Given the description of an element on the screen output the (x, y) to click on. 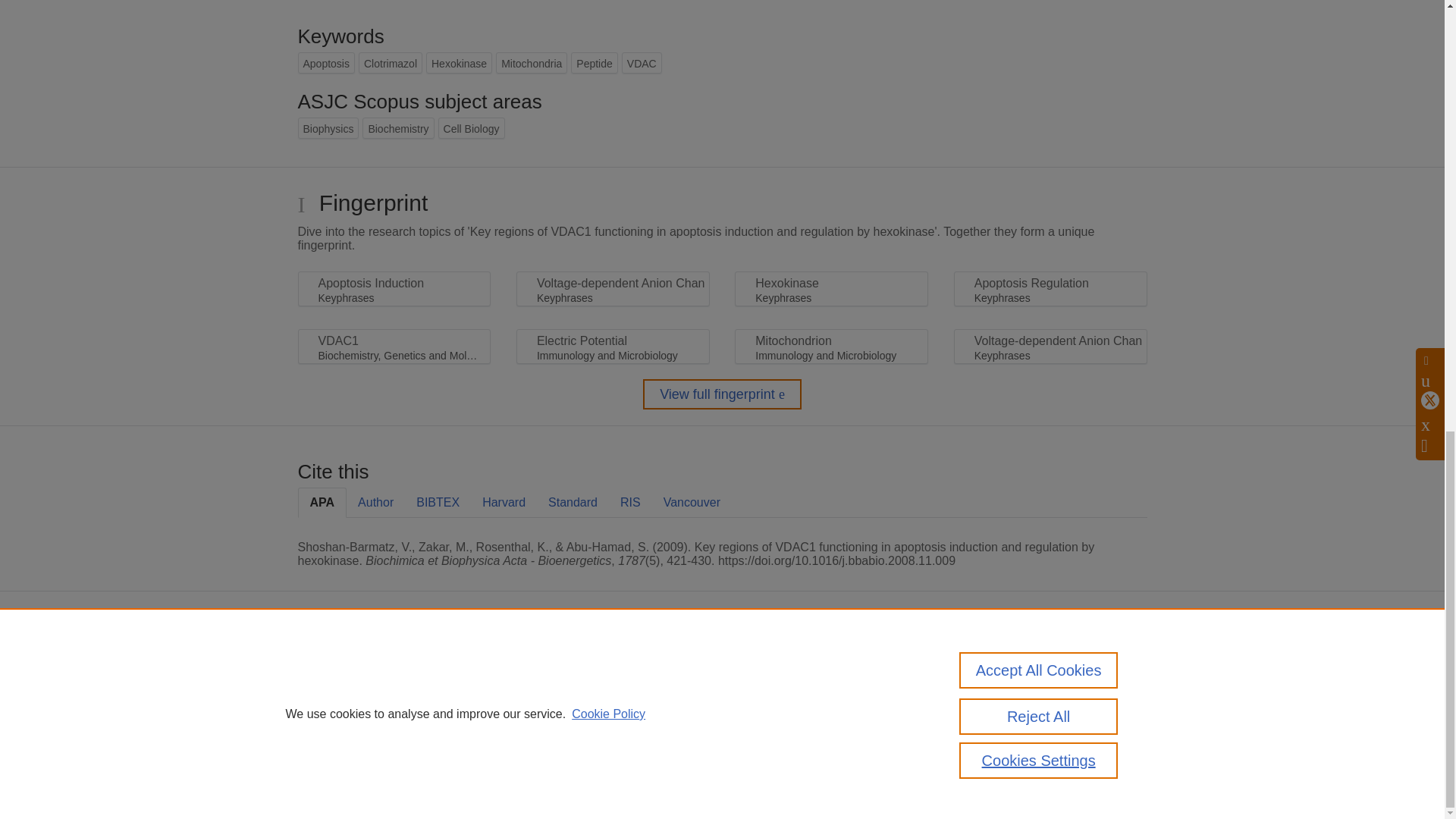
View full fingerprint (722, 394)
